Given the description of an element on the screen output the (x, y) to click on. 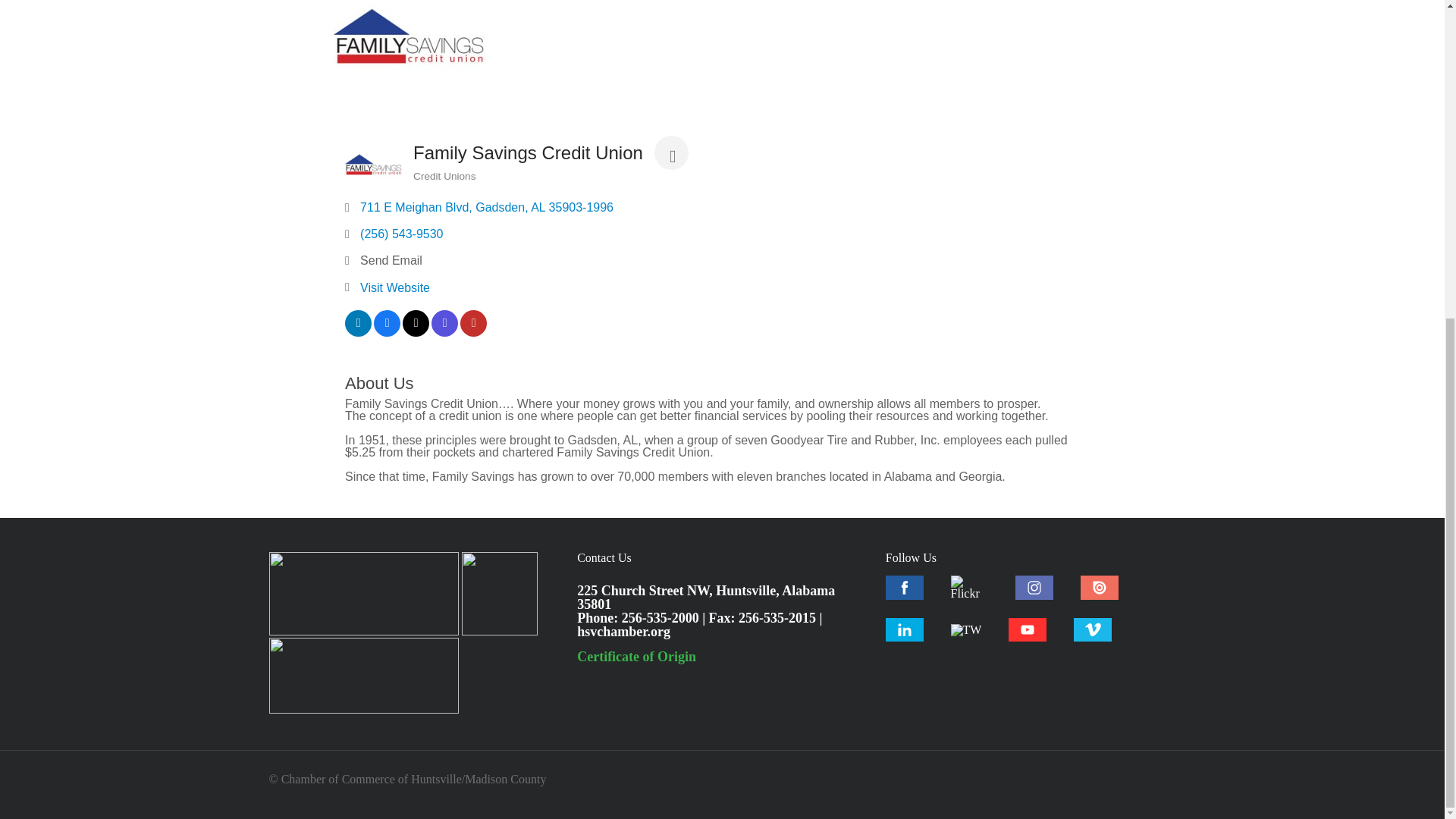
View on Facebook (387, 332)
Family Savings Credit Union (408, 56)
View on Twitter (416, 332)
View on YouTube (473, 332)
View on Instagram (444, 332)
View on LinkedIn (358, 332)
Family Savings Credit Union (373, 164)
